Given the description of an element on the screen output the (x, y) to click on. 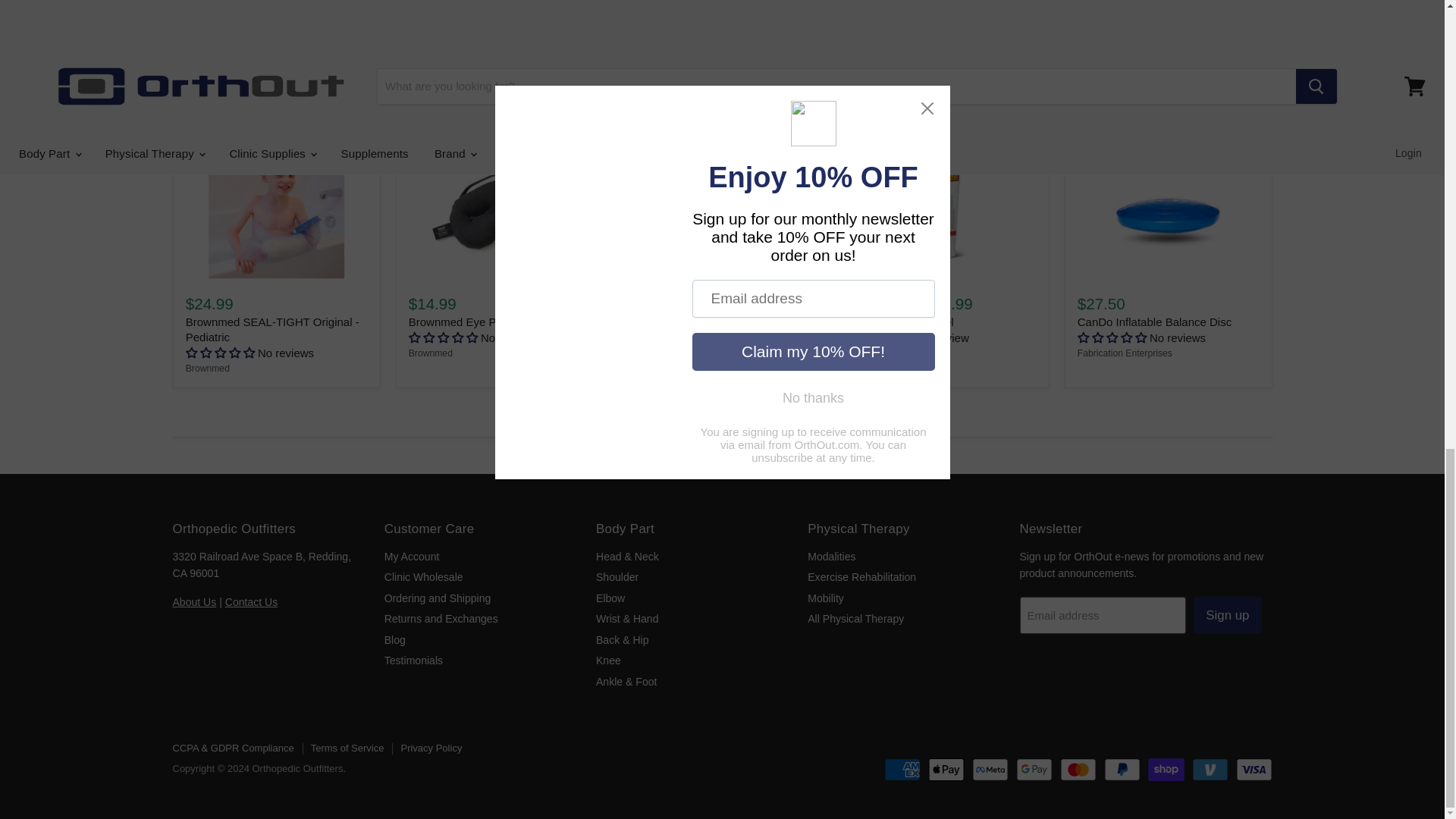
Thera Cane (655, 353)
Brownmed (208, 368)
American Express (901, 769)
Stopain Clinical (886, 353)
Fabrication Enterprises (1124, 353)
Mastercard (1077, 769)
About Us (194, 602)
Apple Pay (945, 769)
Meta Pay (990, 769)
Google Pay (1034, 769)
Brownmed (430, 353)
